Given the description of an element on the screen output the (x, y) to click on. 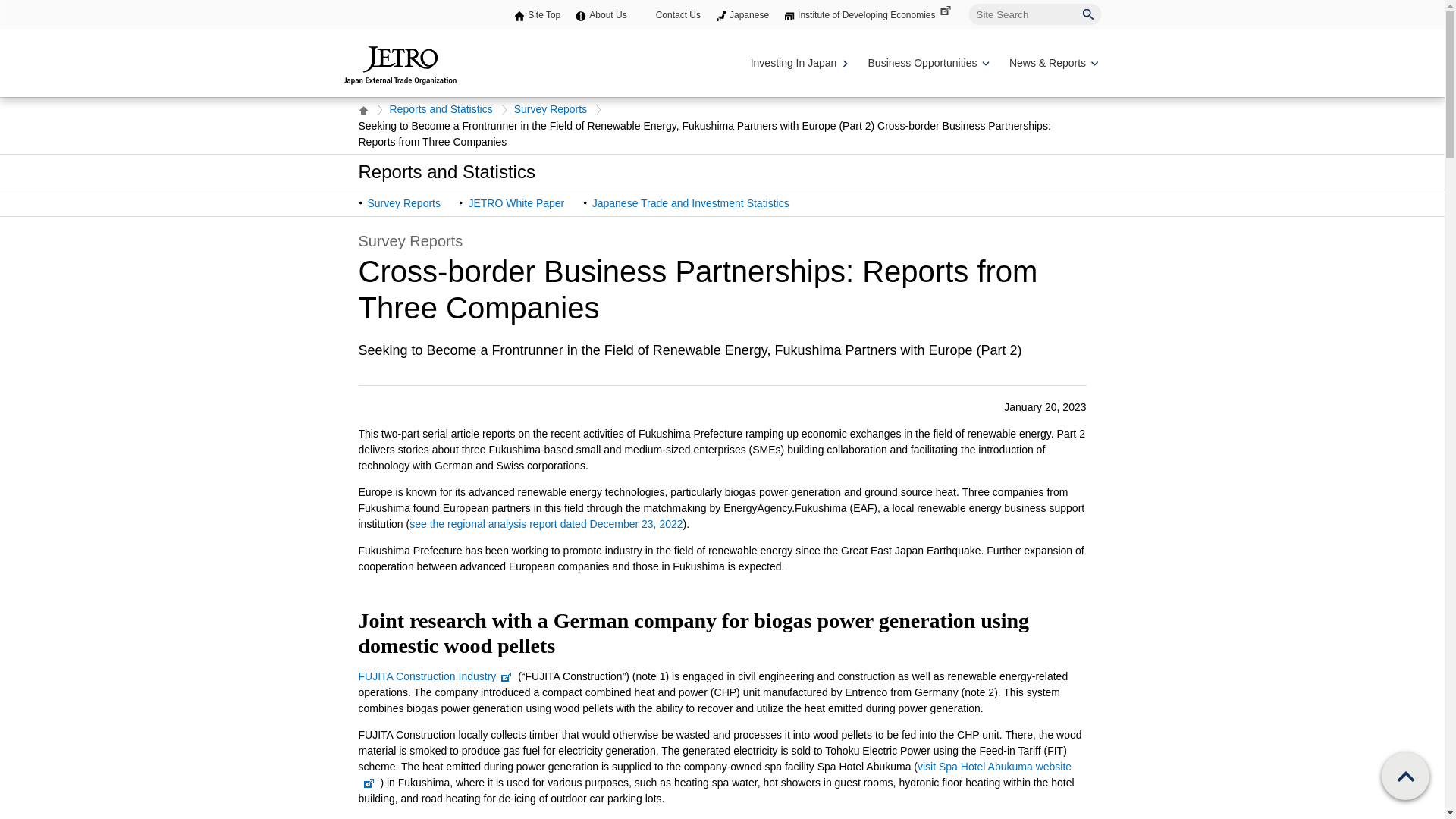
Business Opportunities (927, 63)
Japanese (748, 14)
Investing In Japan (798, 63)
Contact Us (678, 14)
Institute of Developing Economies (875, 14)
About Us (607, 14)
Site Top (543, 14)
